Given the description of an element on the screen output the (x, y) to click on. 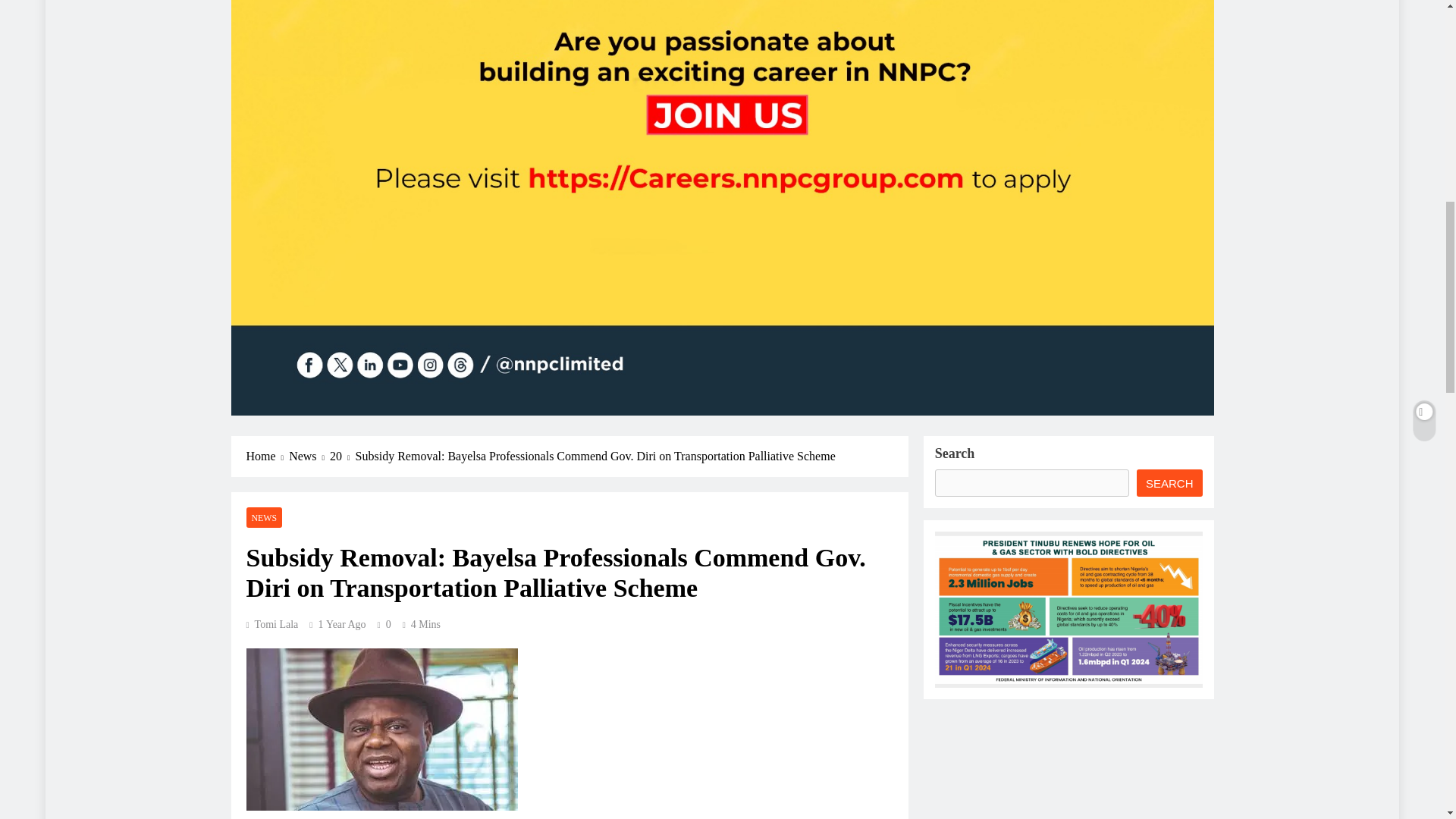
Tomi Lala (272, 624)
20 (342, 456)
1 Year Ago (341, 624)
News (309, 456)
Home (267, 456)
NEWS (264, 516)
